Given the description of an element on the screen output the (x, y) to click on. 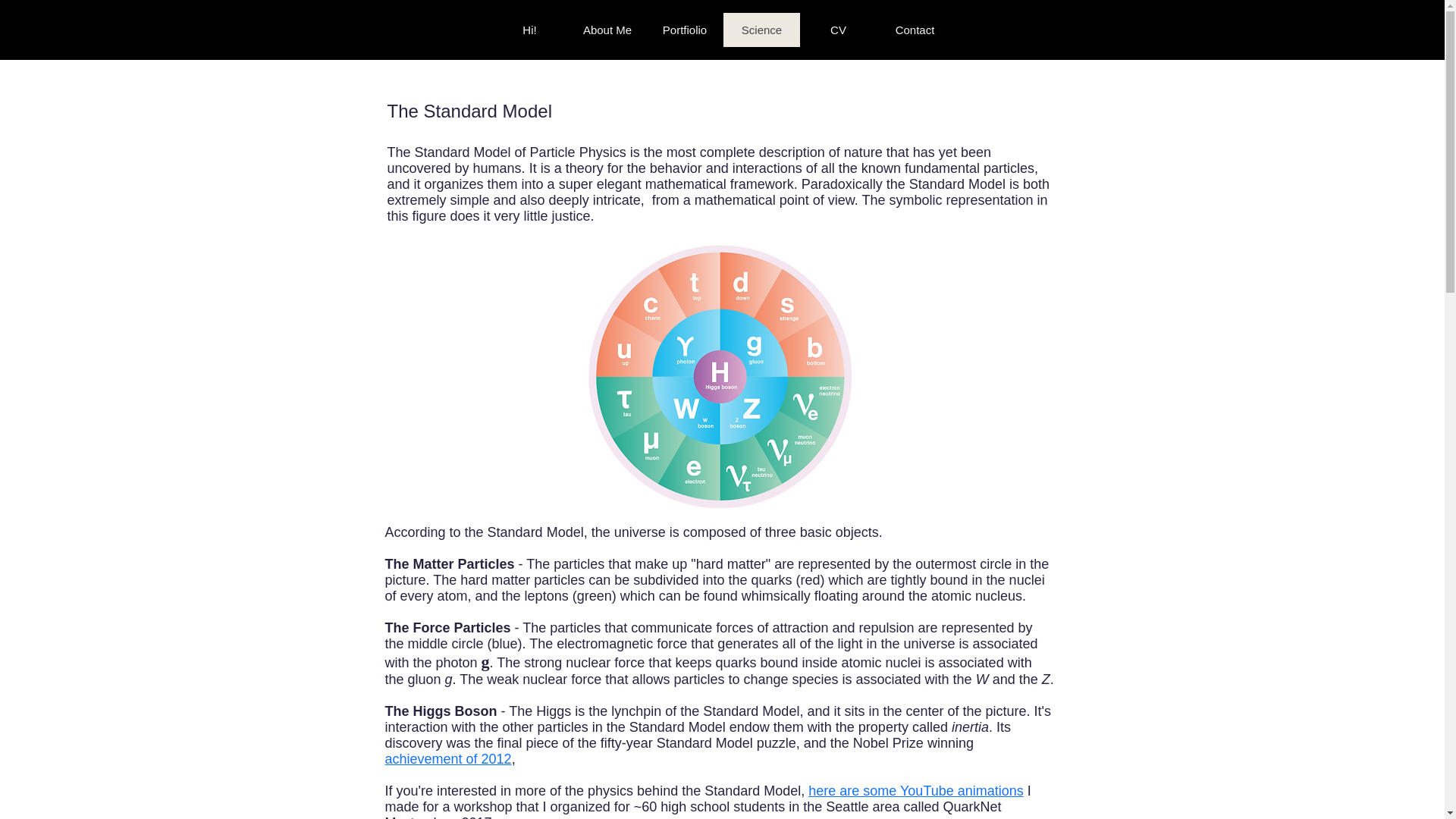
Science (761, 29)
achievement of 2012 (448, 758)
Contact (914, 29)
Portfiolio (684, 29)
here are some YouTube animations (915, 790)
CV (837, 29)
About Me (607, 29)
Hi! (530, 29)
